Given the description of an element on the screen output the (x, y) to click on. 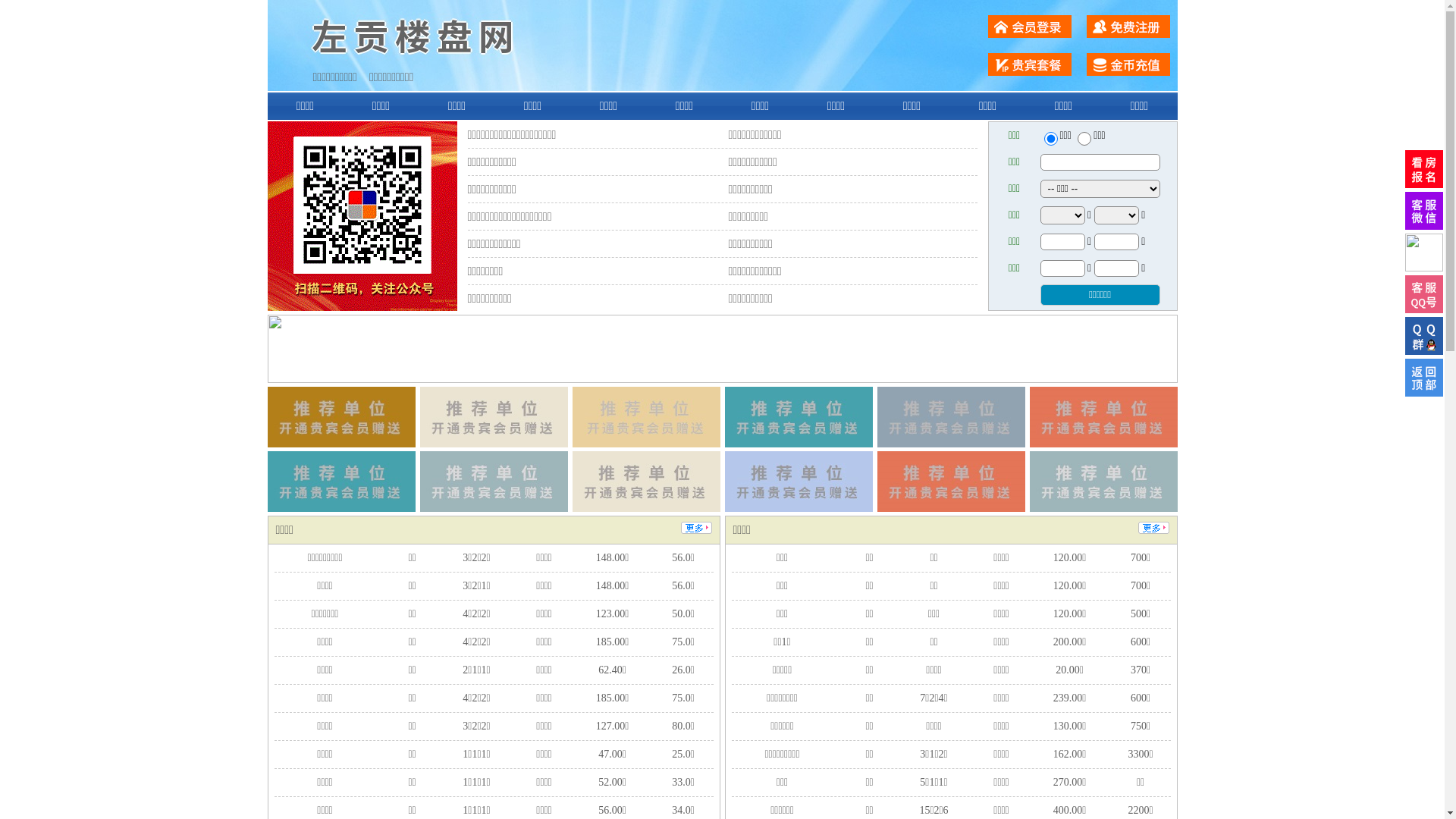
ershou Element type: text (1050, 138)
chuzu Element type: text (1084, 138)
